Given the description of an element on the screen output the (x, y) to click on. 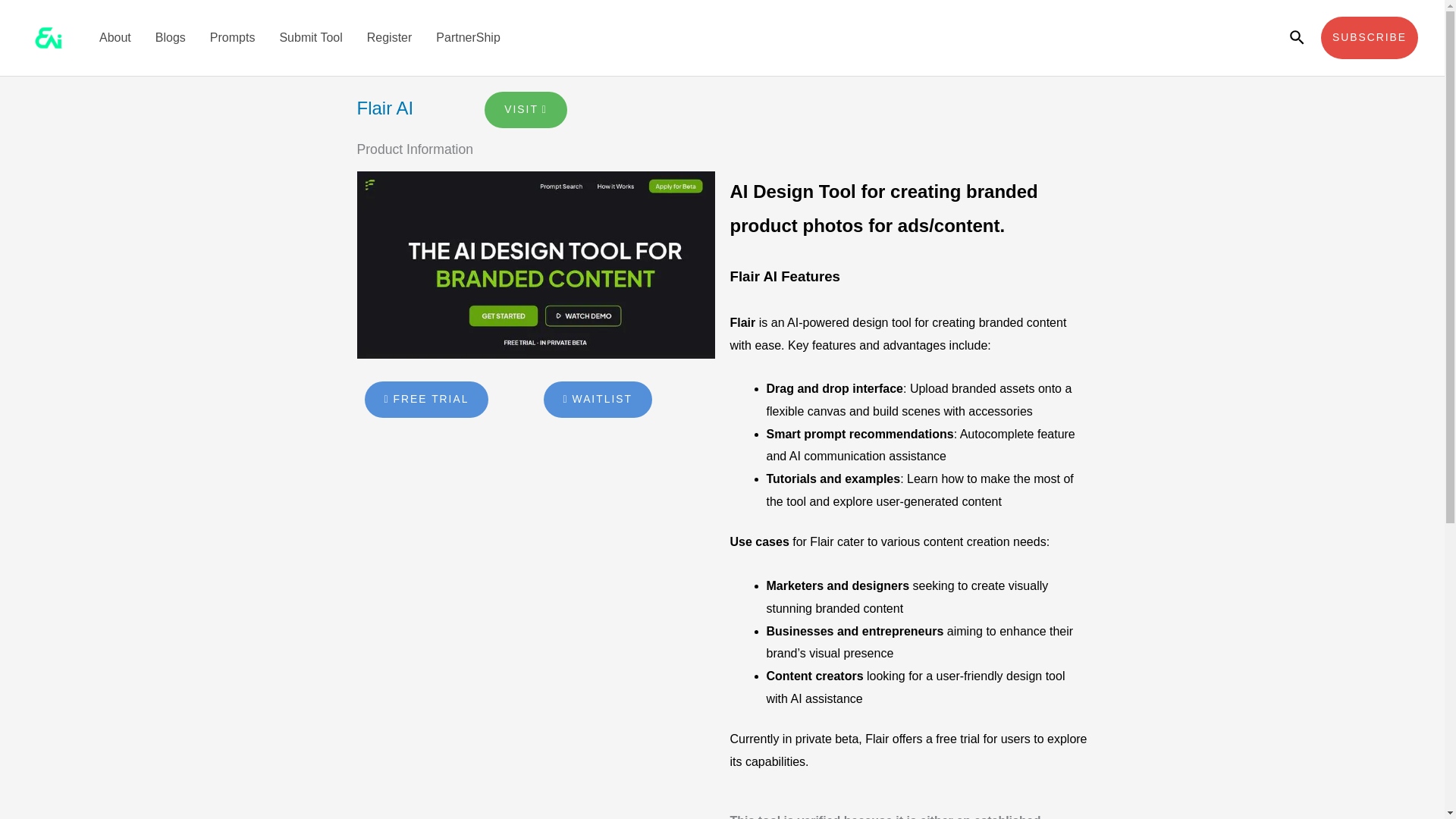
Register (390, 38)
WAITLIST (596, 399)
Submit Tool (309, 38)
FREE TRIAL (425, 399)
VISIT (525, 109)
Prompts (232, 38)
Flair AI (535, 264)
SUBSCRIBE (1369, 37)
PartnerShip (467, 38)
